Given the description of an element on the screen output the (x, y) to click on. 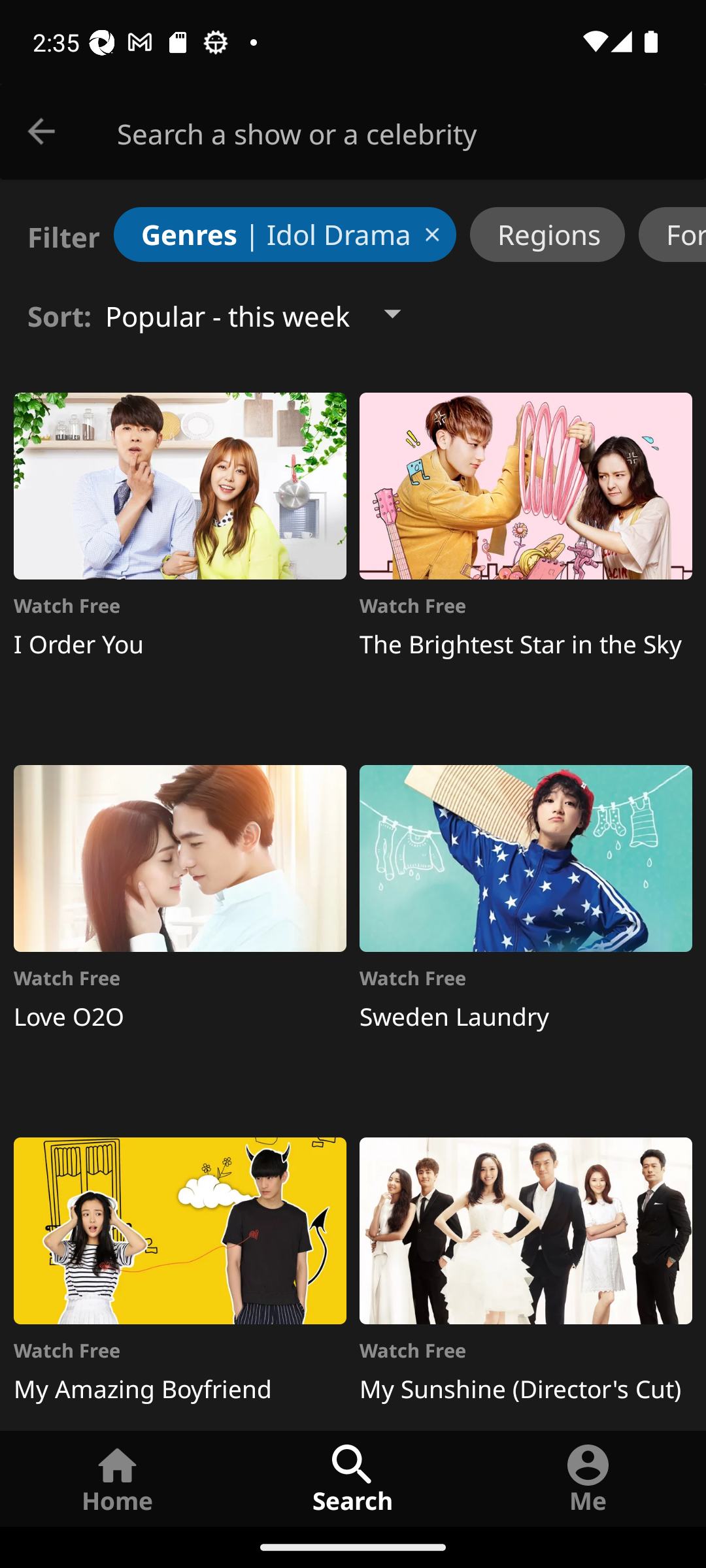
Search a show or a celebrity (411, 131)
Regions filter_button_countries (547, 233)
Popular - this week (269, 313)
Home (117, 1478)
Me (588, 1478)
